Given the description of an element on the screen output the (x, y) to click on. 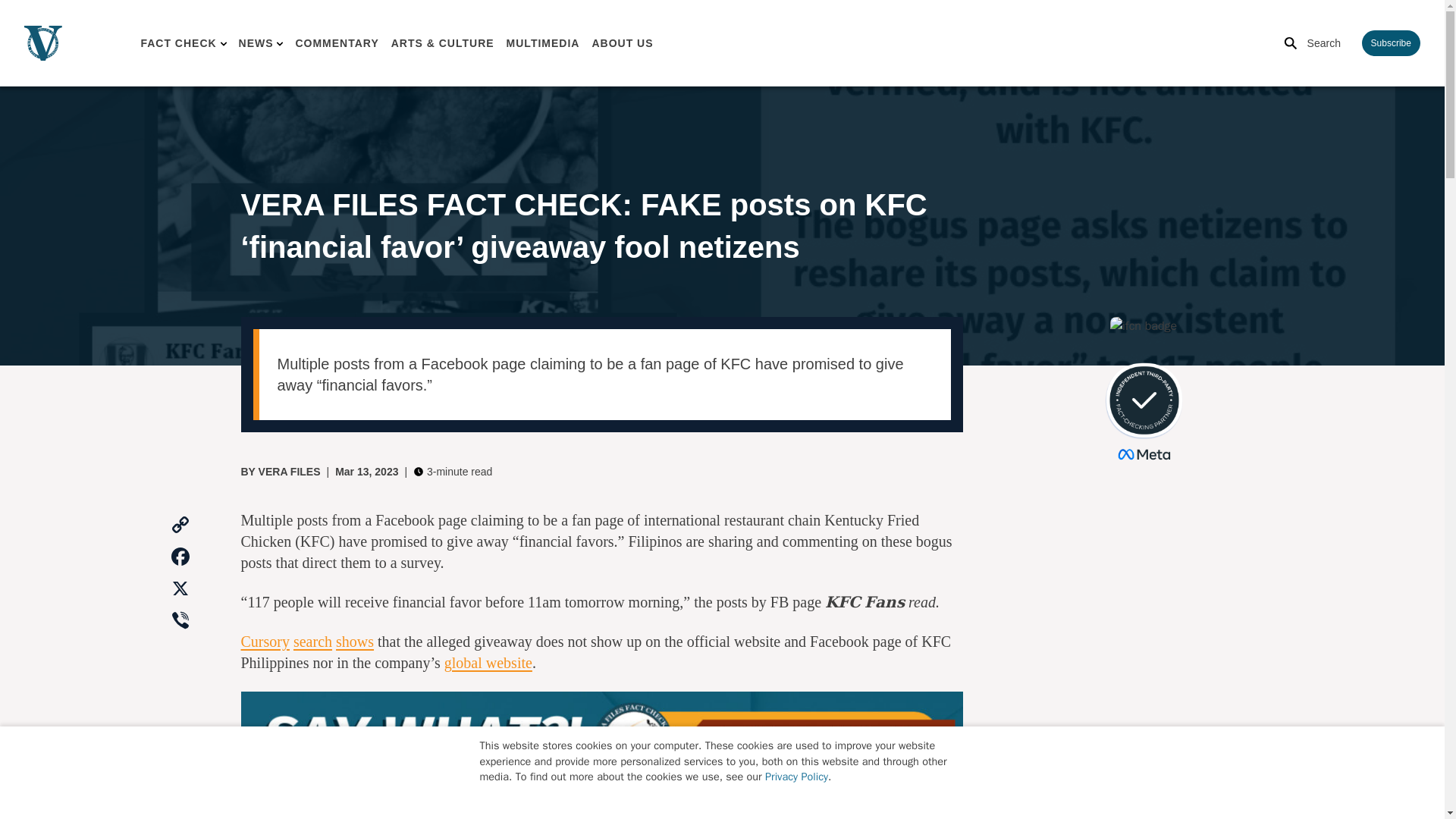
COMMENTARY (336, 42)
ABOUT US (621, 42)
Facebook (180, 557)
NEWS (255, 42)
MULTIMEDIA (542, 42)
FACT CHECK (177, 42)
Viber (180, 621)
X (180, 589)
Subscribe (1391, 43)
Copy Link (180, 525)
